Given the description of an element on the screen output the (x, y) to click on. 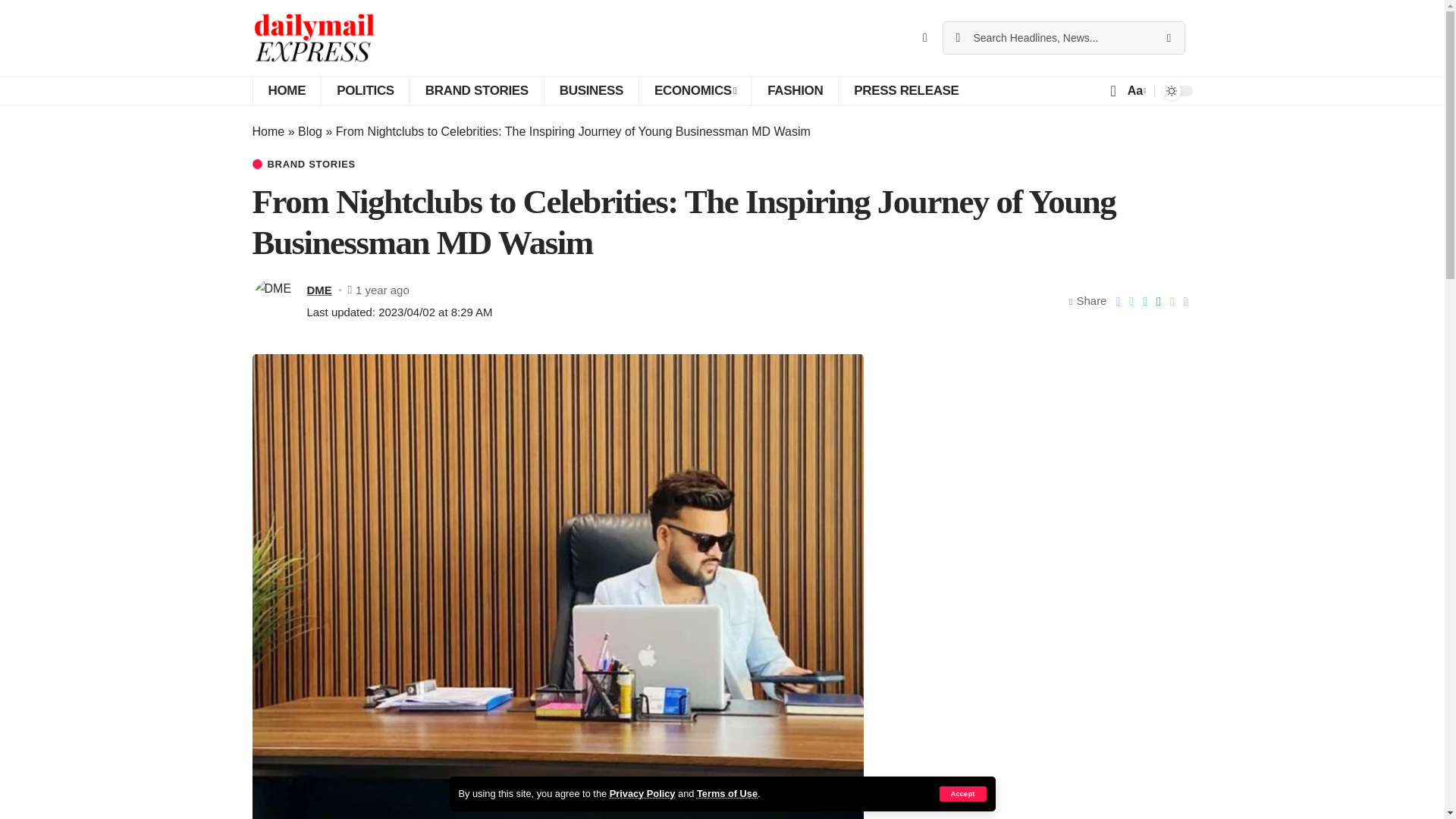
ECONOMICS (695, 91)
Terms of Use (727, 793)
POLITICS (364, 91)
PRESS RELEASE (906, 91)
Aa (1135, 90)
Accept (962, 793)
HOME (285, 91)
FASHION (794, 91)
Search (1168, 37)
BRAND STORIES (476, 91)
BUSINESS (591, 91)
Daily Mail Express (313, 37)
Privacy Policy (642, 793)
